Given the description of an element on the screen output the (x, y) to click on. 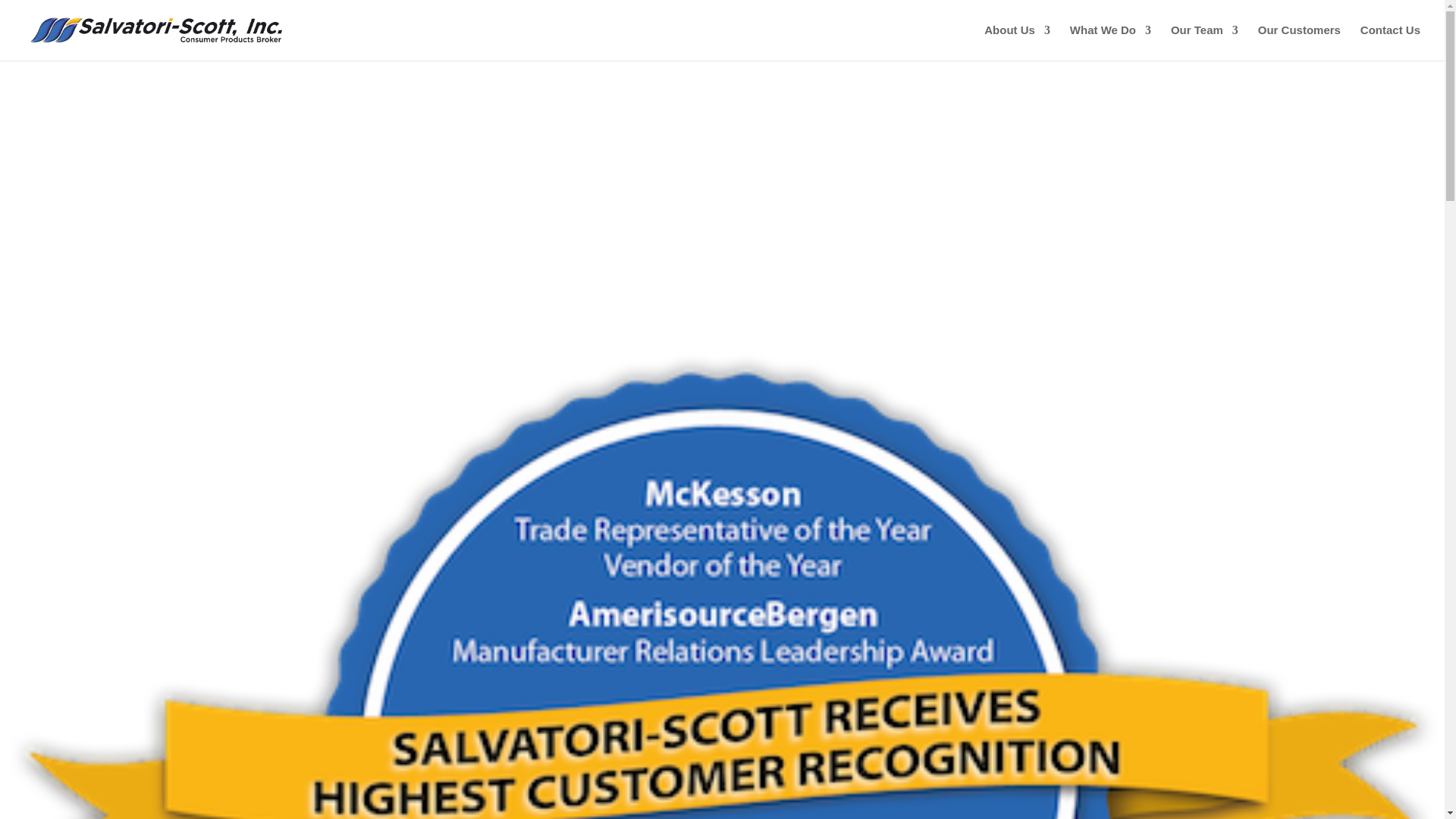
What We Do (1110, 42)
Contact Us (1390, 42)
Services (1110, 42)
About Us (1016, 42)
Our Team (1204, 42)
Our Customers (1298, 42)
